Given the description of an element on the screen output the (x, y) to click on. 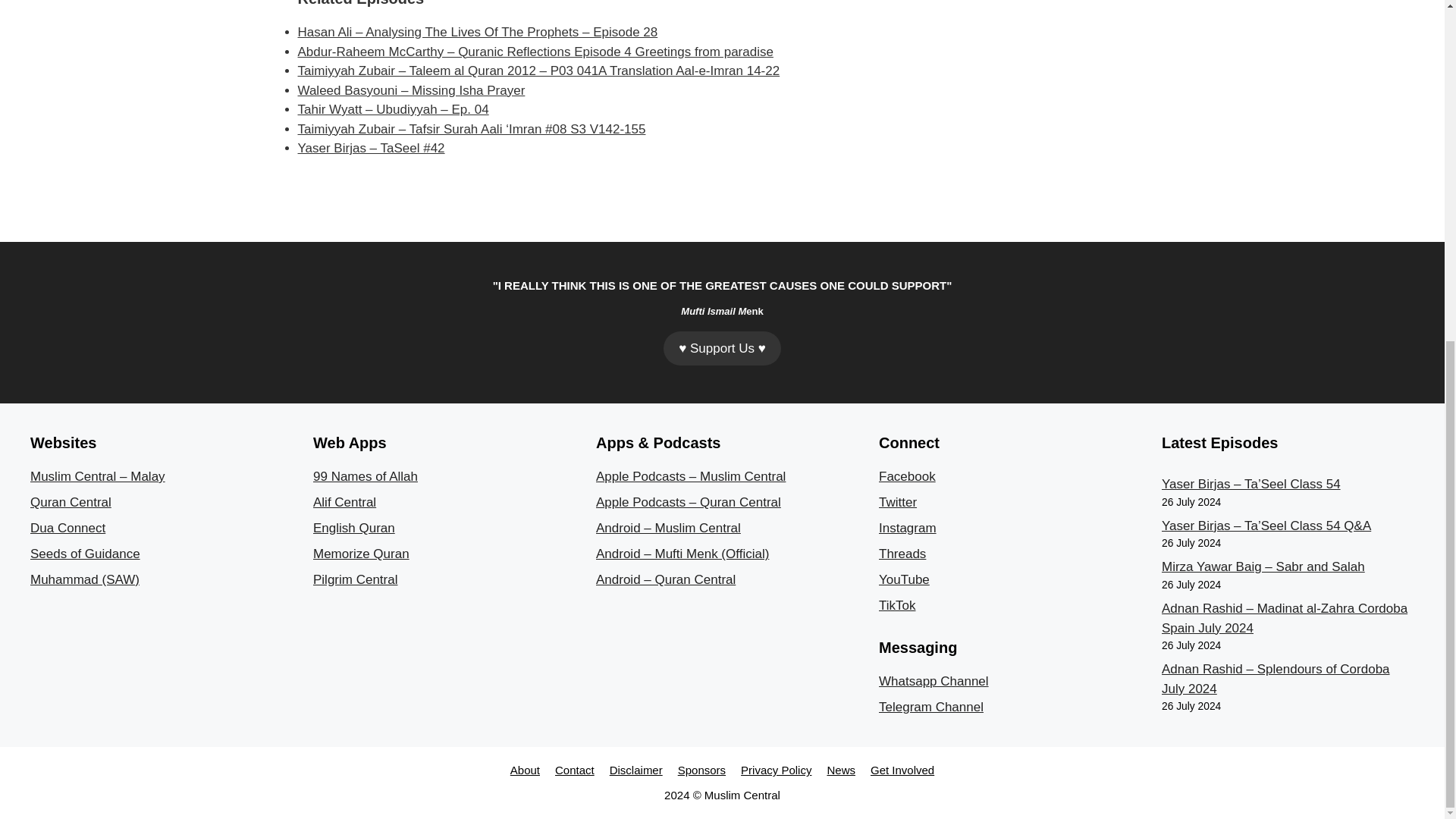
Quran Central (71, 502)
Memorize Quran (361, 554)
English Quran (353, 527)
Dua Connect (67, 527)
Seeds of Guidance (84, 554)
Alif Central (344, 502)
99 Names of Allah (365, 476)
